Given the description of an element on the screen output the (x, y) to click on. 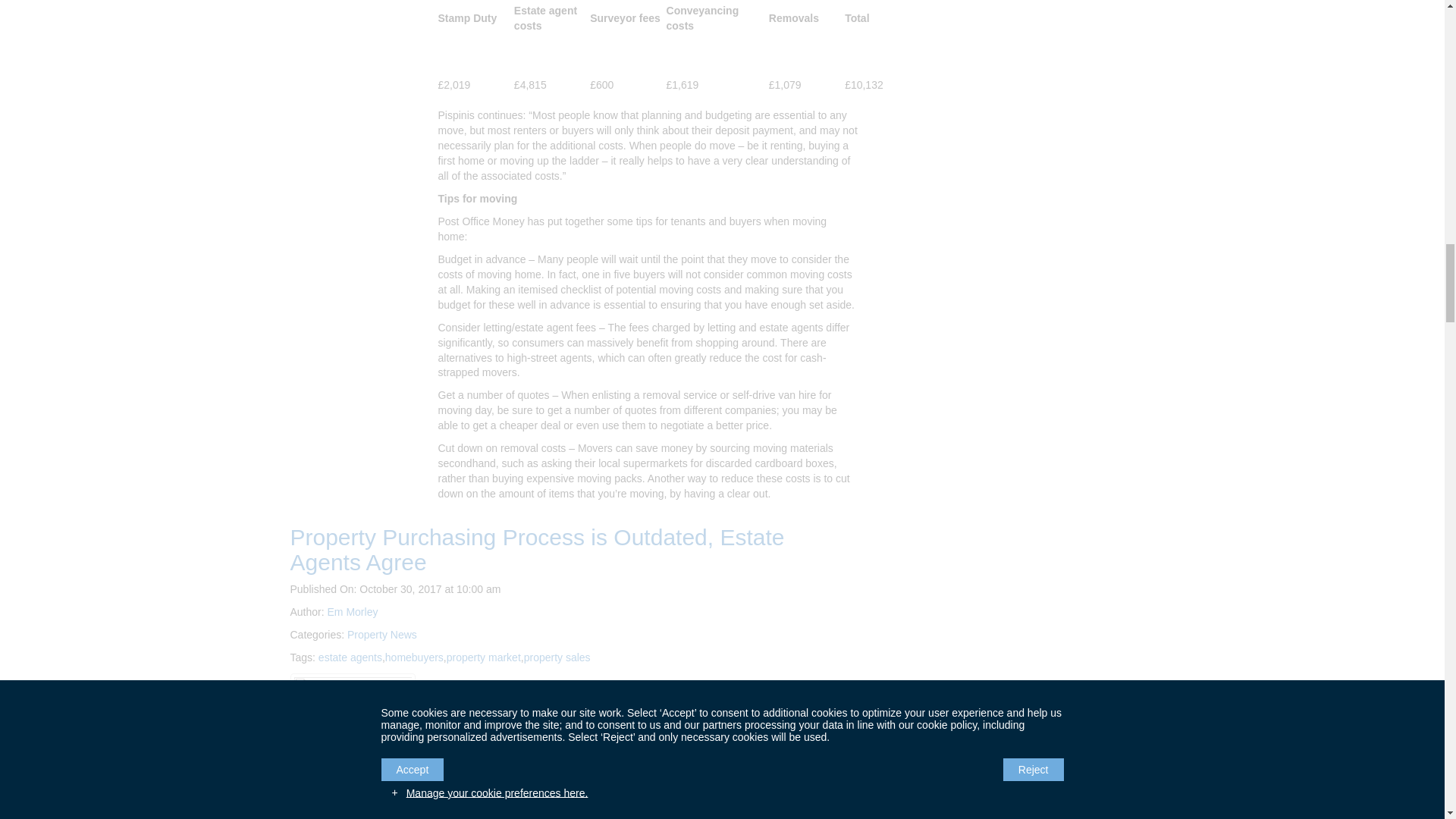
Posts by Em Morley (352, 612)
